Given the description of an element on the screen output the (x, y) to click on. 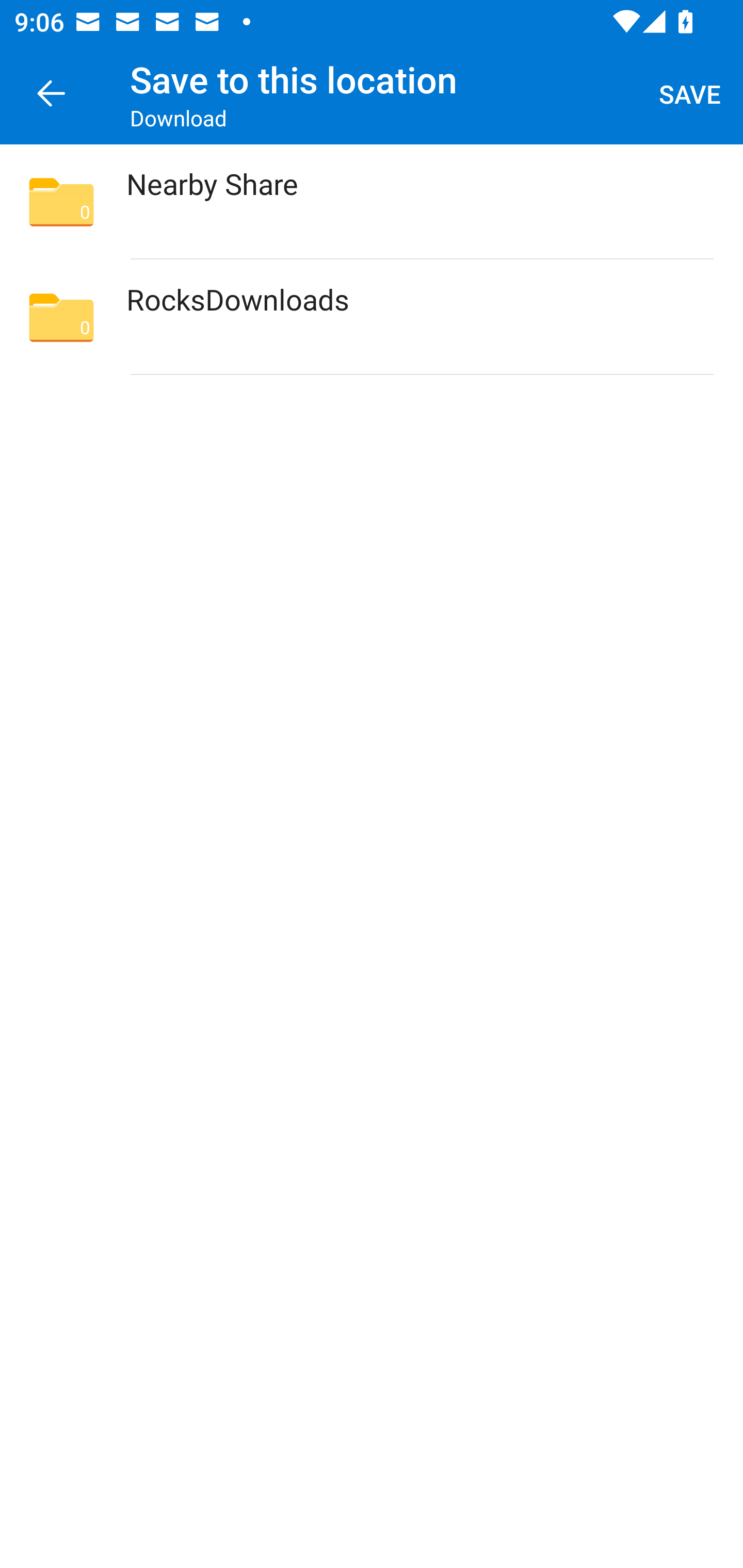
Navigate up (50, 93)
SAVE (690, 93)
Folder 0 0 items Nearby Share (371, 202)
Folder 0 0 items RocksDownloads (371, 317)
